Given the description of an element on the screen output the (x, y) to click on. 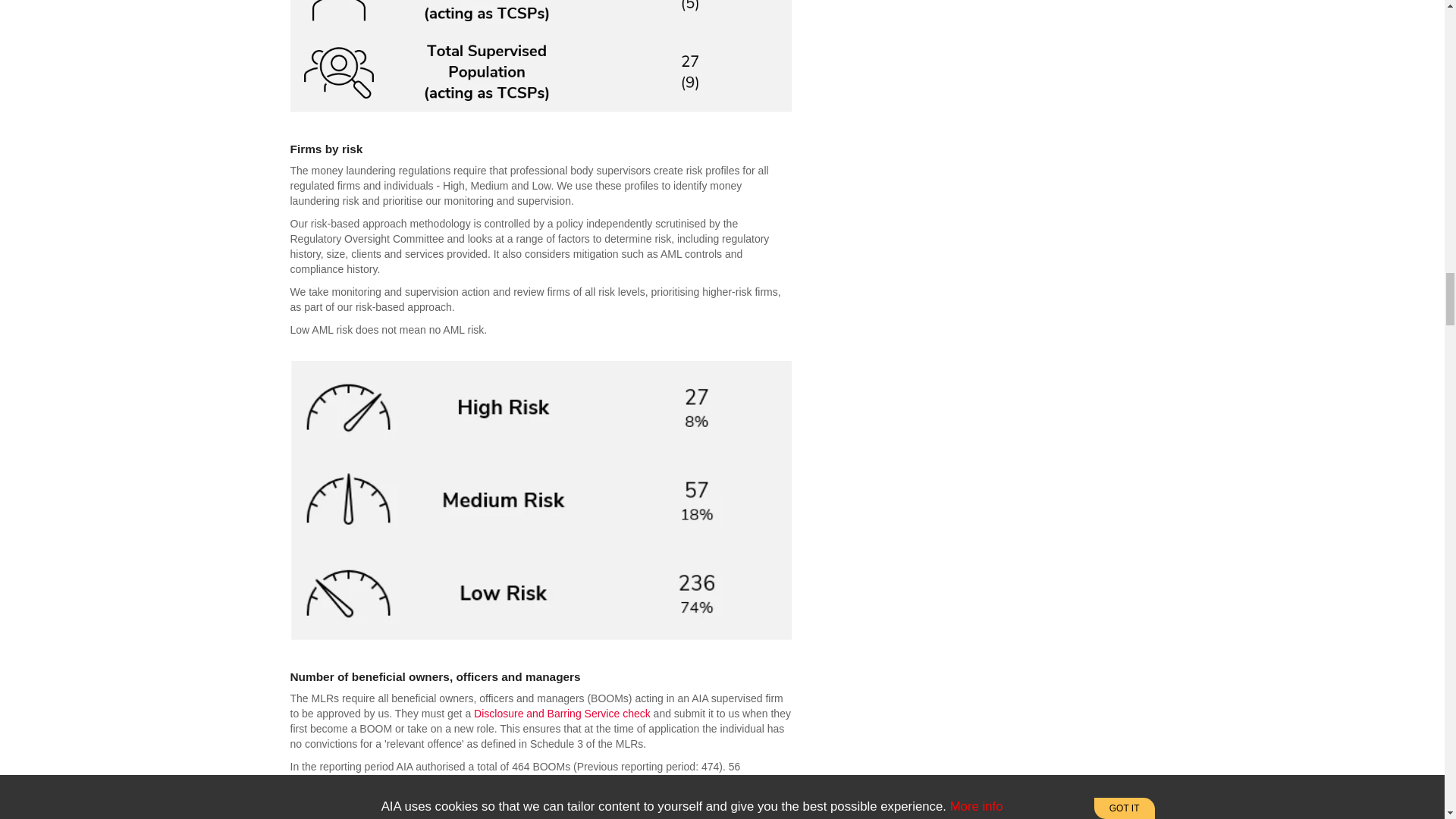
Criminal Record Checks (562, 713)
